Given the description of an element on the screen output the (x, y) to click on. 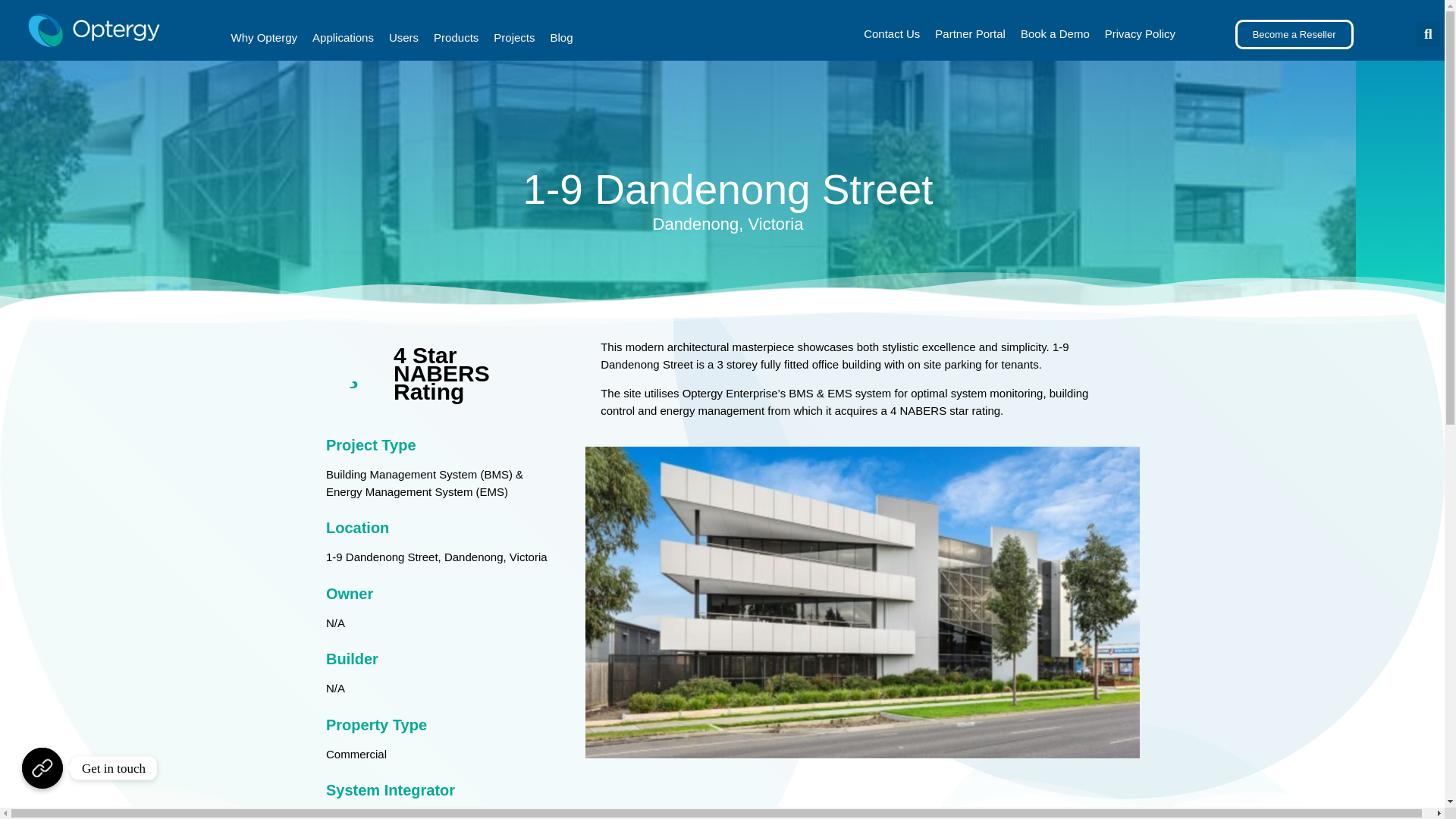
Projects (513, 37)
Applications (342, 37)
Products (456, 37)
Why Optergy (264, 37)
Blog (561, 37)
Users (403, 37)
